Given the description of an element on the screen output the (x, y) to click on. 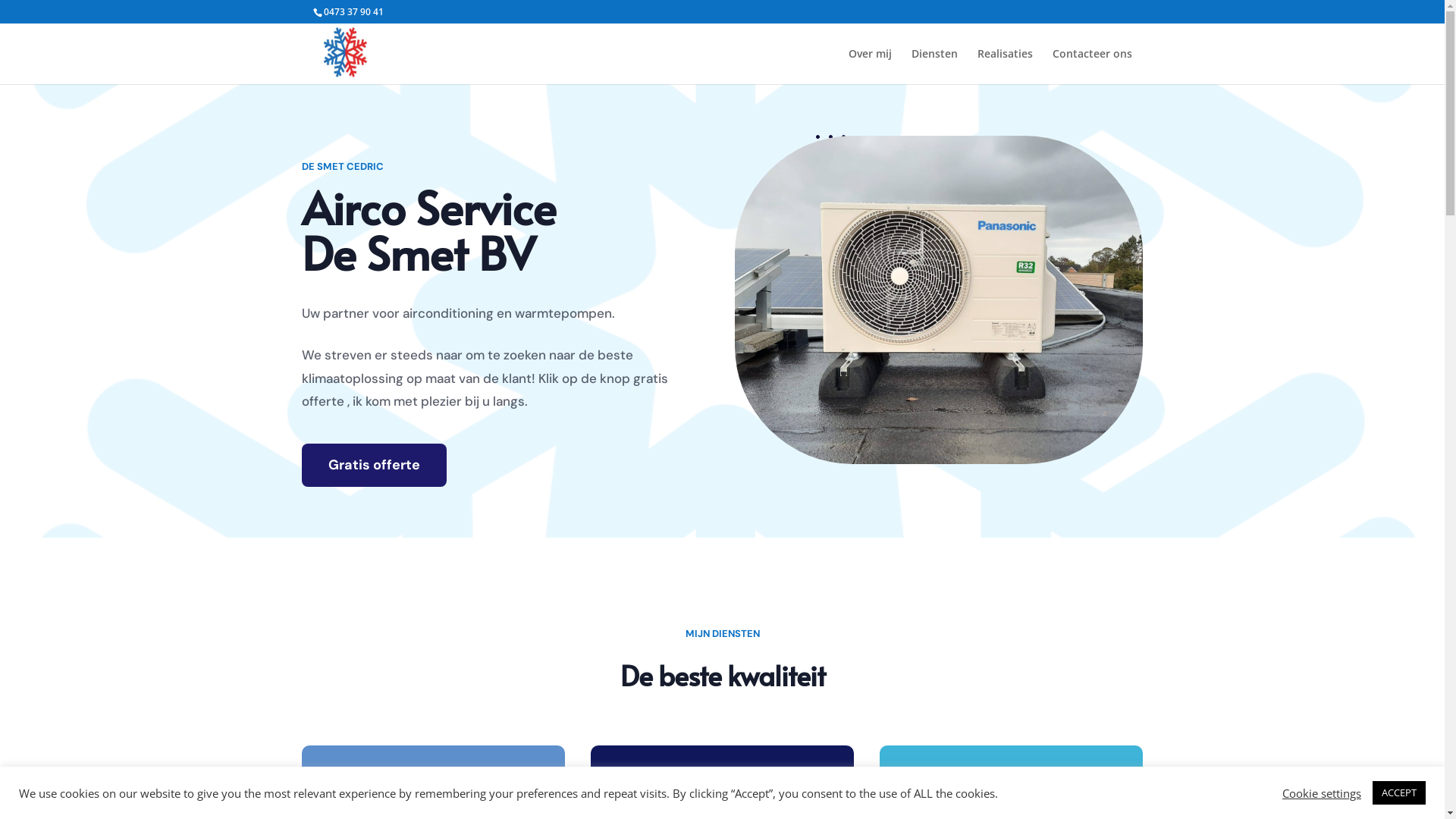
Contacteer ons Element type: text (1092, 66)
Realisaties Element type: text (1004, 66)
Cookie settings Element type: text (1321, 792)
Schermafbeelding 2020-12-11 om 13.37.41 Element type: hover (938, 299)
landing-205 (2) Element type: hover (830, 175)
ACCEPT Element type: text (1398, 792)
Diensten Element type: text (934, 66)
Gratis offerte Element type: text (373, 464)
Over mij Element type: text (869, 66)
